Given the description of an element on the screen output the (x, y) to click on. 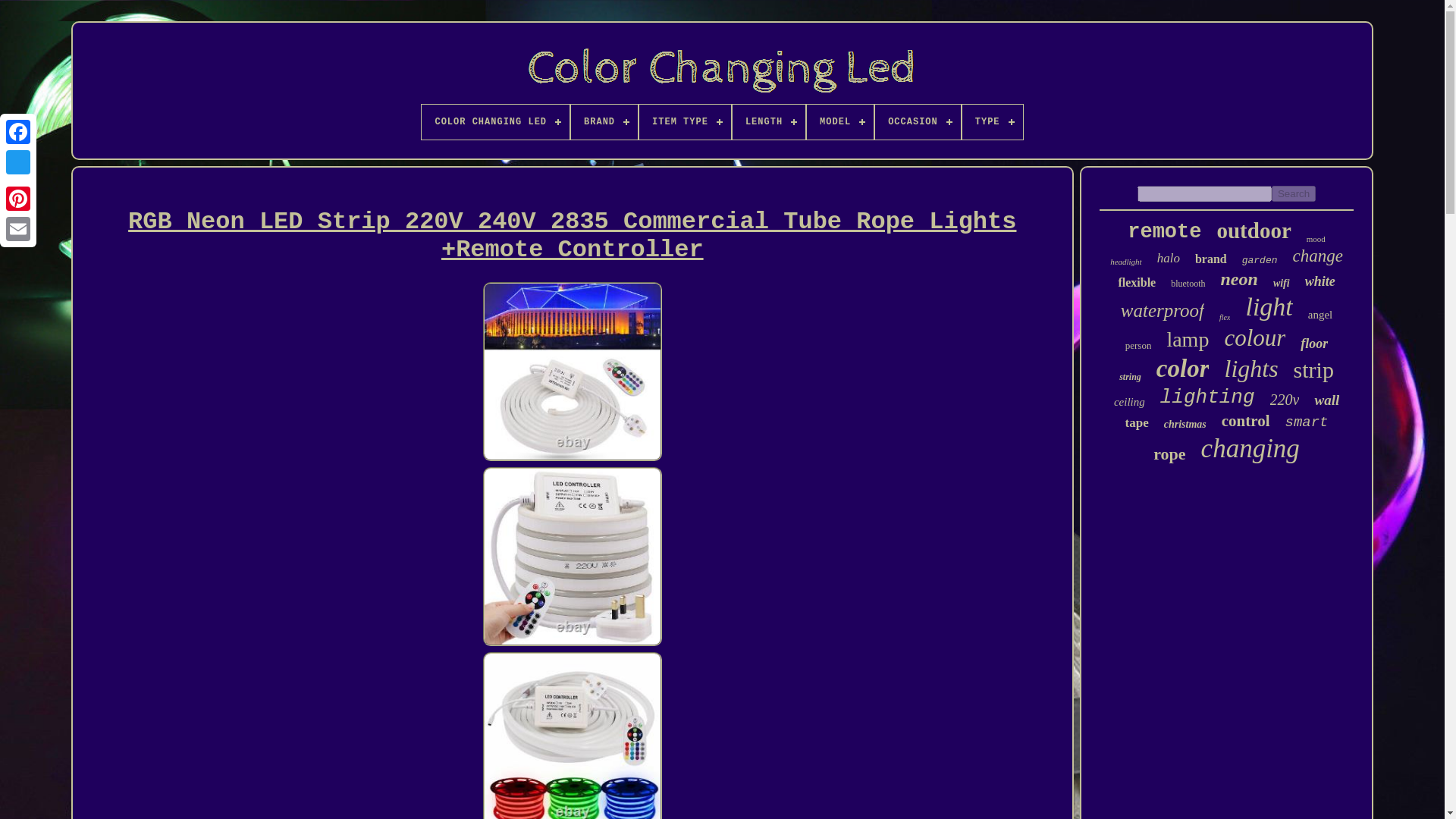
LENGTH (768, 121)
Search (1293, 193)
Pinterest (17, 198)
COLOR CHANGING LED (495, 121)
ITEM TYPE (684, 121)
BRAND (603, 121)
